Given the description of an element on the screen output the (x, y) to click on. 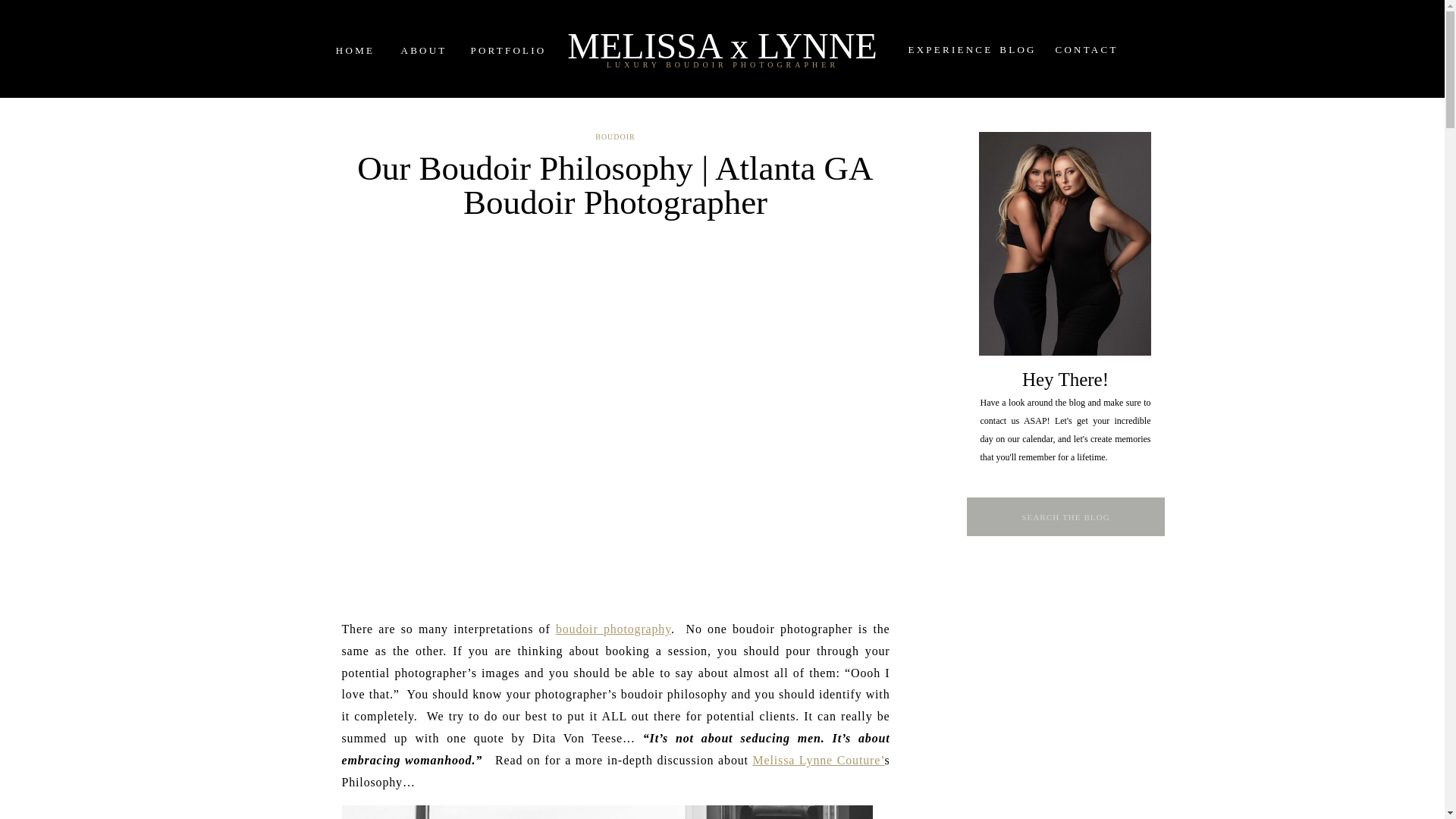
MELISSA x LYNNE (722, 40)
boudoir (580, 628)
BOUDOIR (614, 136)
EXPERIENCE (943, 48)
photography (637, 628)
PORTFOLIO (502, 49)
ABOUT (423, 49)
LUXURY BOUDOIR PHOTOGRAPHER (722, 63)
BLOG (1017, 48)
HOME (354, 49)
